Given the description of an element on the screen output the (x, y) to click on. 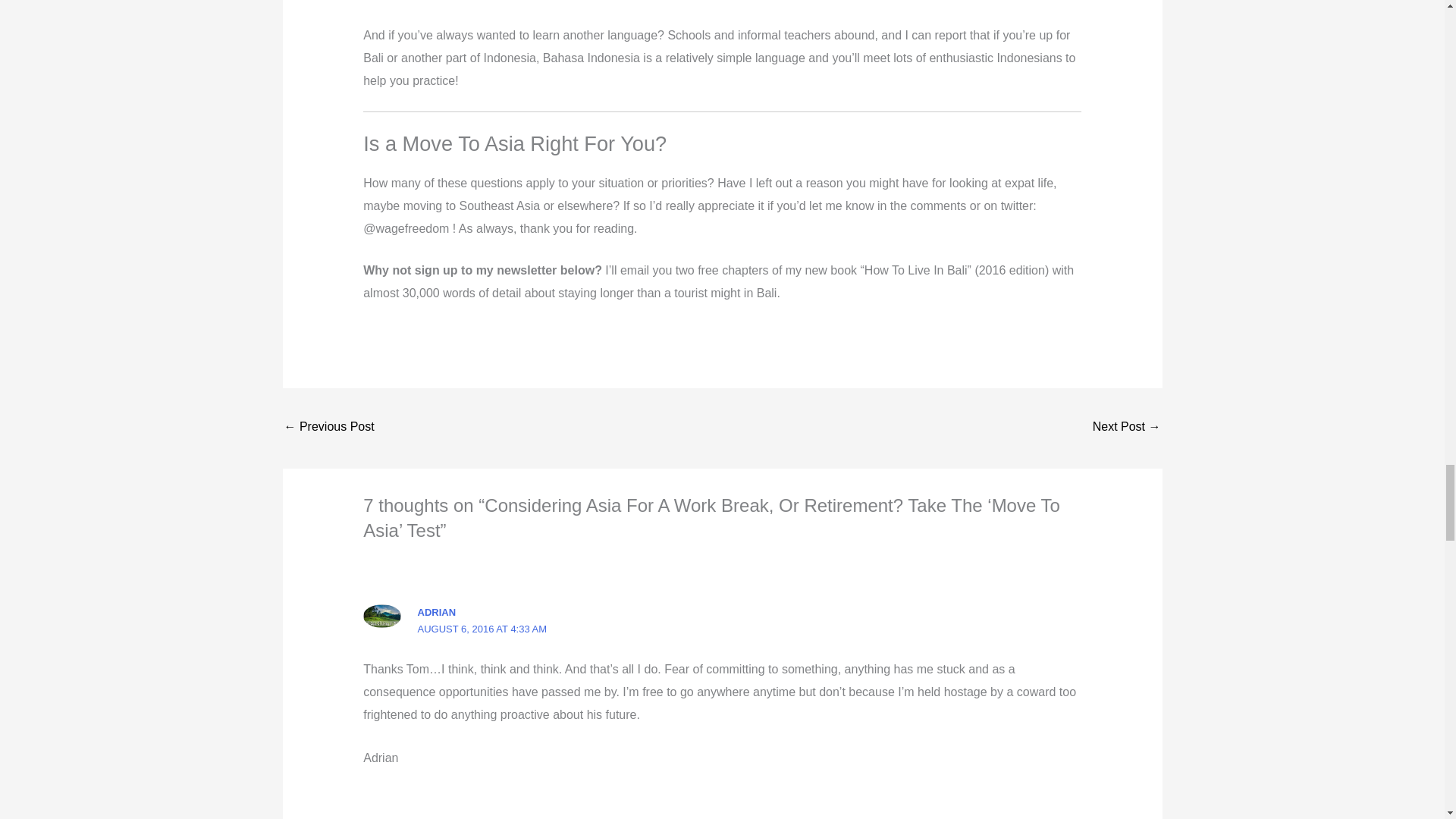
ADRIAN (437, 612)
Don't Ask How To Quit Your Job: Ask This (328, 428)
Bali for Americans--Why It Looks So Good In 2017 (1126, 428)
AUGUST 6, 2016 AT 4:33 AM (482, 628)
